Given the description of an element on the screen output the (x, y) to click on. 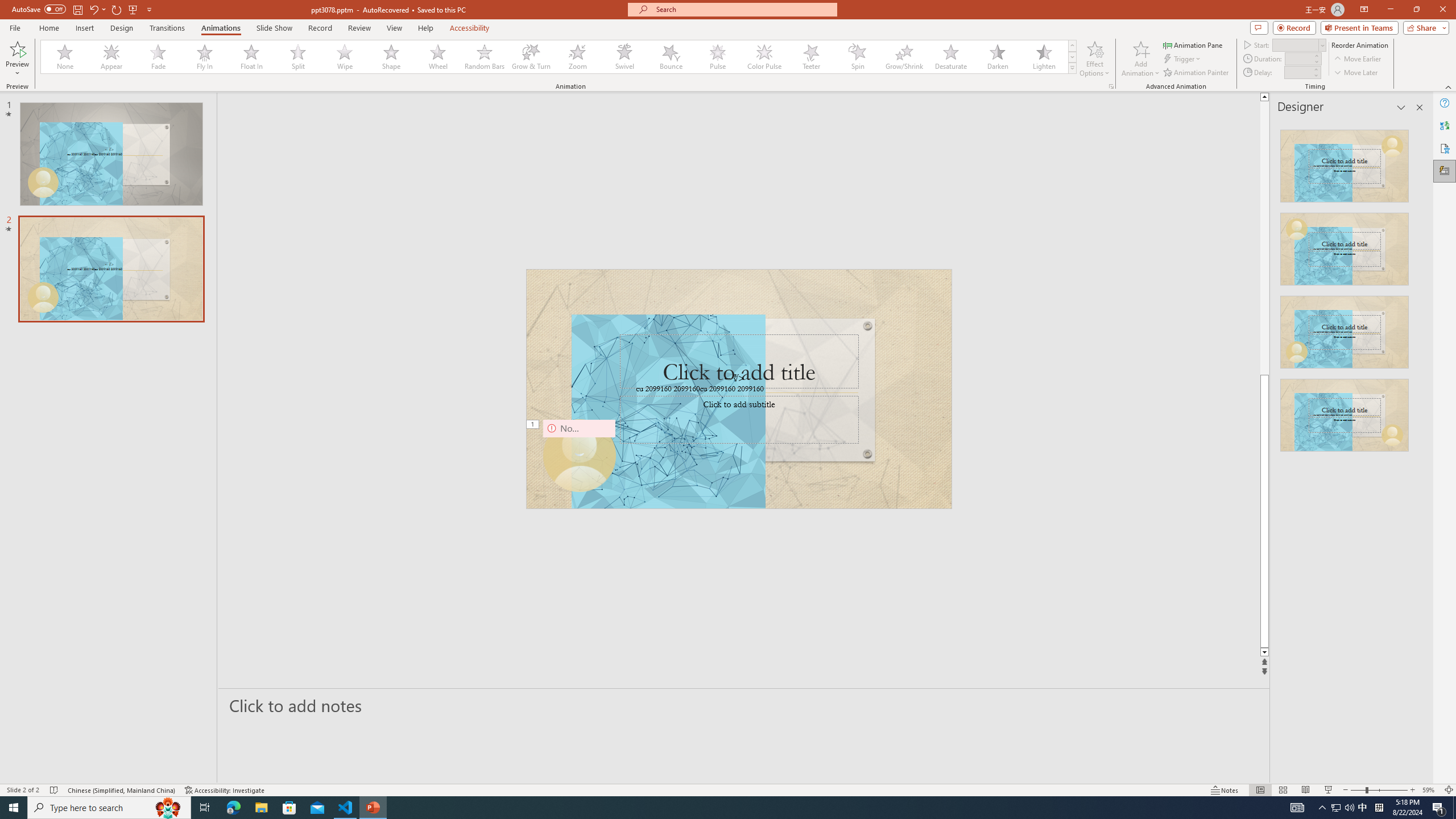
Move Later (1355, 72)
Fly In (205, 56)
Bounce (670, 56)
Title TextBox (739, 361)
Animation Duration (1298, 58)
